Given the description of an element on the screen output the (x, y) to click on. 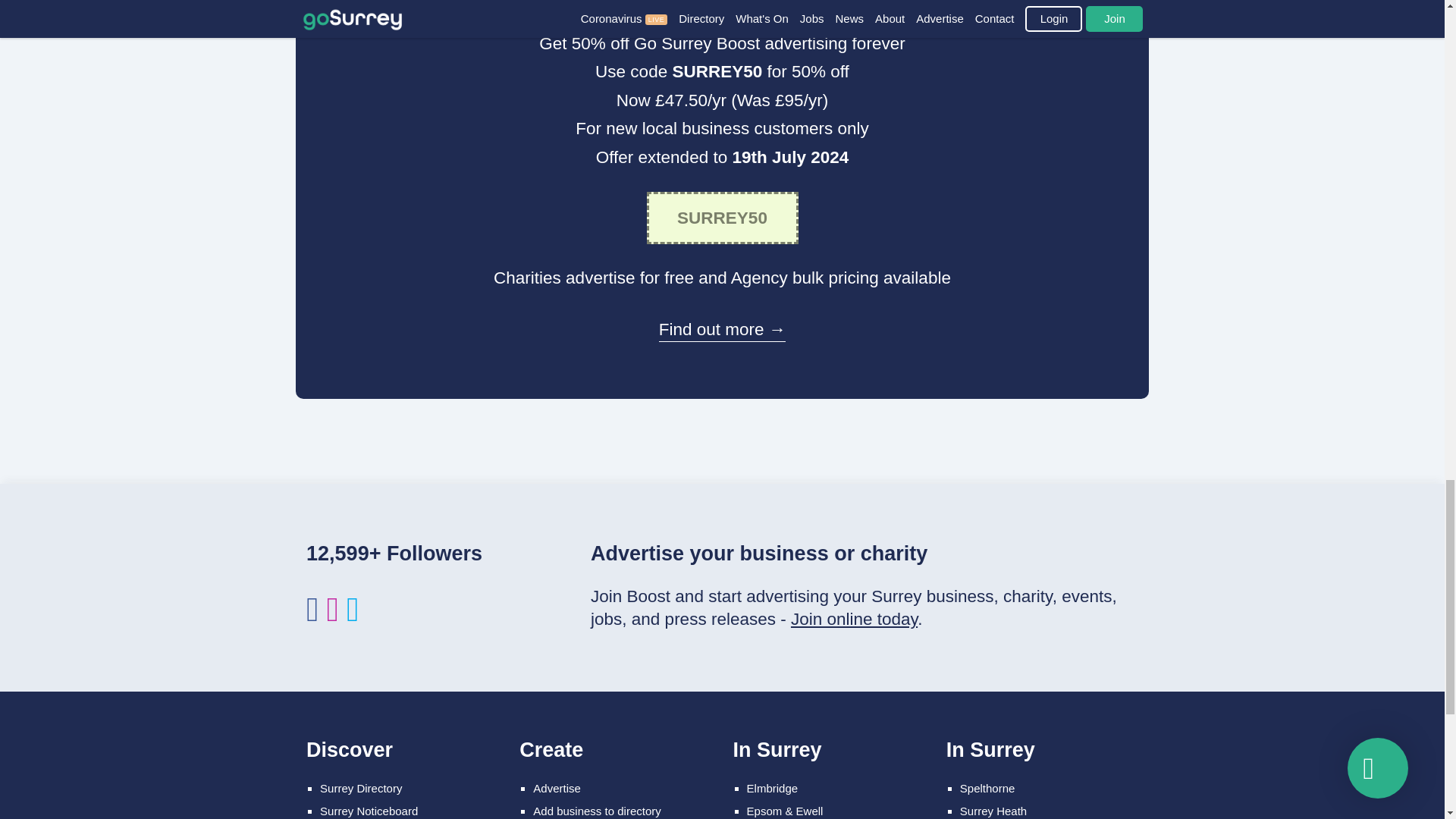
Twitter (352, 616)
Add business to directory (596, 810)
Surrey Noticeboard (368, 810)
Surrey Directory (360, 788)
Join online today (853, 618)
Facebook (311, 616)
Advertise (556, 788)
Instagram (331, 616)
